Given the description of an element on the screen output the (x, y) to click on. 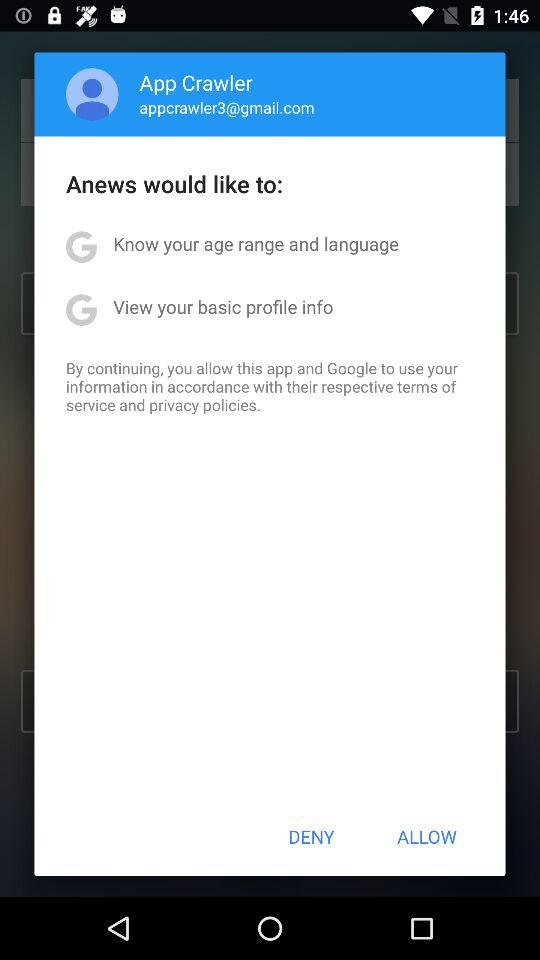
swipe to the know your age (255, 243)
